Given the description of an element on the screen output the (x, y) to click on. 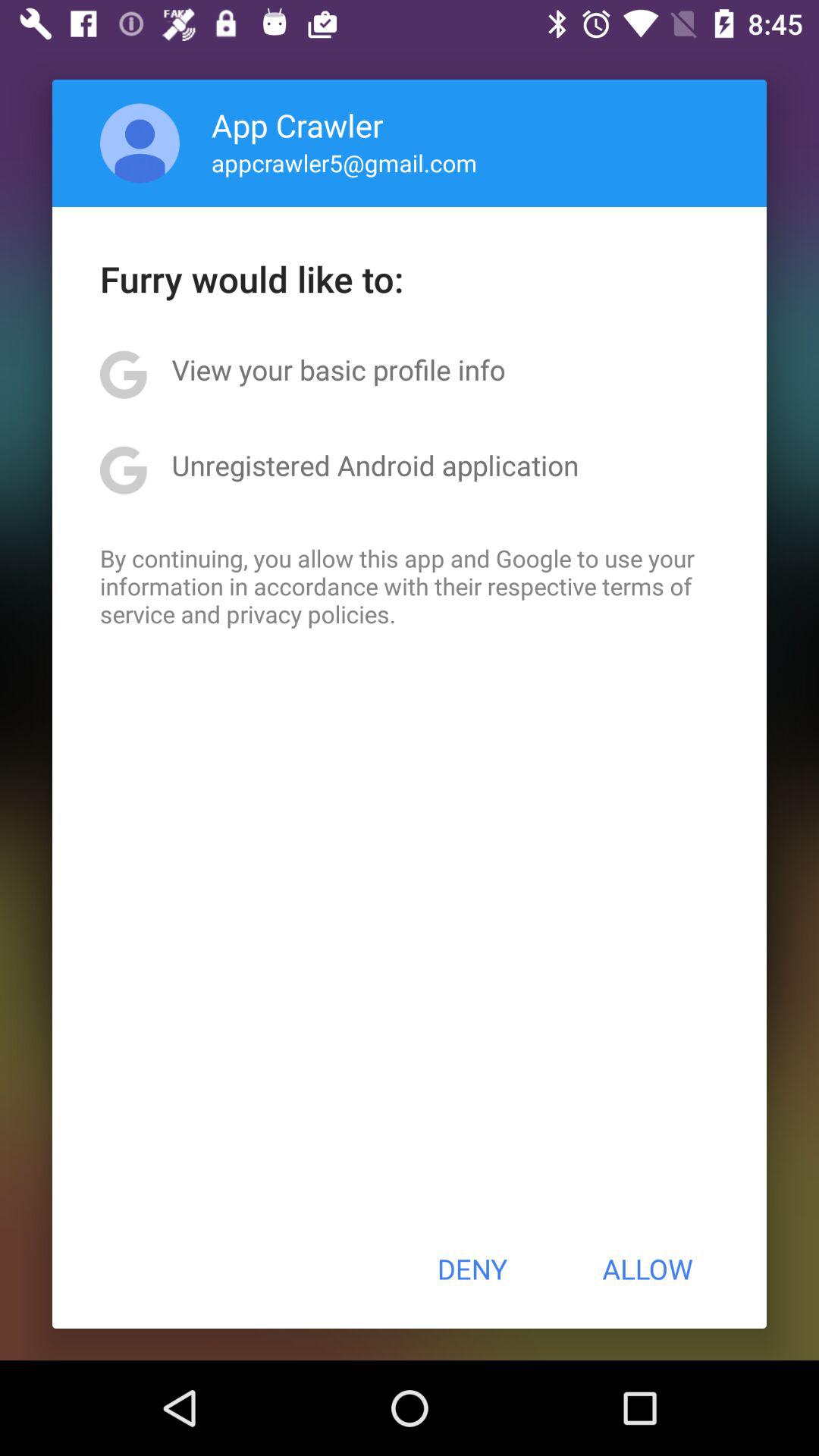
flip until unregistered android application icon (374, 465)
